Given the description of an element on the screen output the (x, y) to click on. 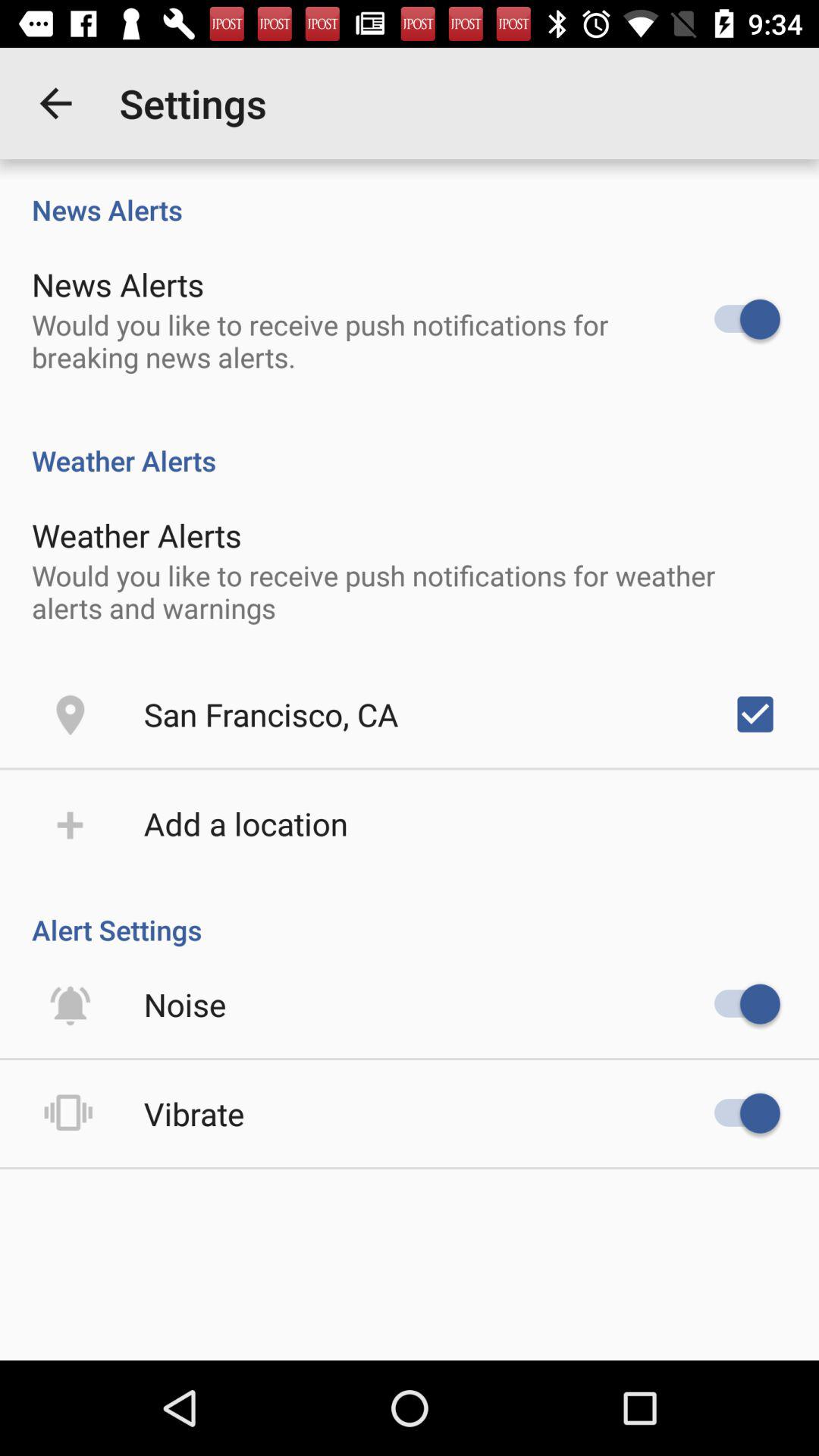
press the icon above alert settings item (755, 714)
